Given the description of an element on the screen output the (x, y) to click on. 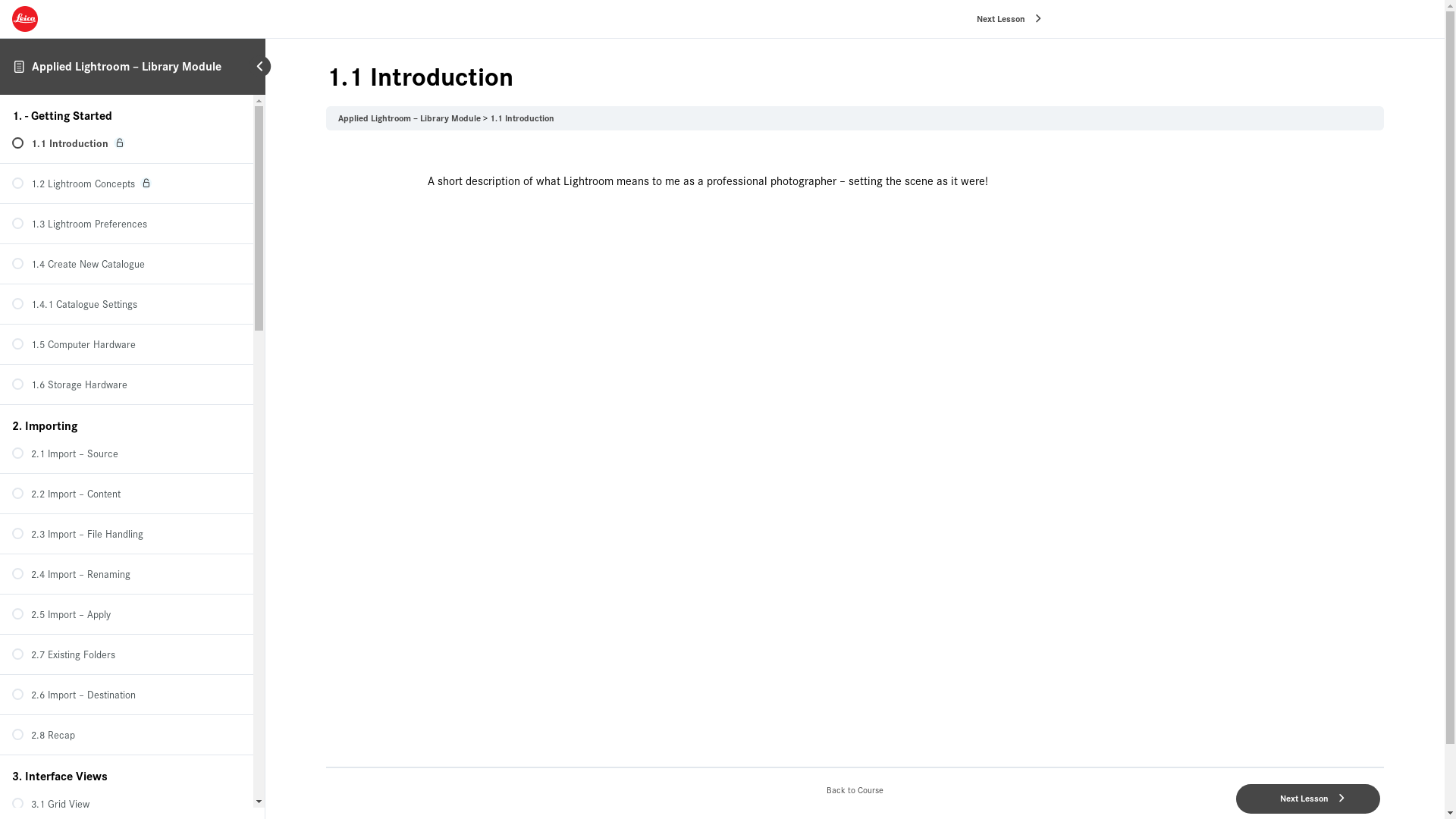
1.4 Create New Catalogue Element type: text (126, 263)
1.3 Lightroom Preferences Element type: text (126, 223)
1.6 Storage Hardware Element type: text (126, 384)
1.2 Lightroom Concepts Element type: text (126, 183)
2.7 Existing Folders Element type: text (126, 654)
Next Lesson Element type: text (1308, 798)
1.1 Introduction Element type: text (521, 118)
3.1 Grid View Element type: text (126, 803)
1.4.1 Catalogue Settings Element type: text (126, 303)
1.1 Introduction Element type: text (126, 142)
Next Lesson Element type: text (1004, 19)
Back to Course Element type: text (854, 790)
2.8 Recap Element type: text (126, 734)
1.5 Computer Hardware Element type: text (126, 343)
